Given the description of an element on the screen output the (x, y) to click on. 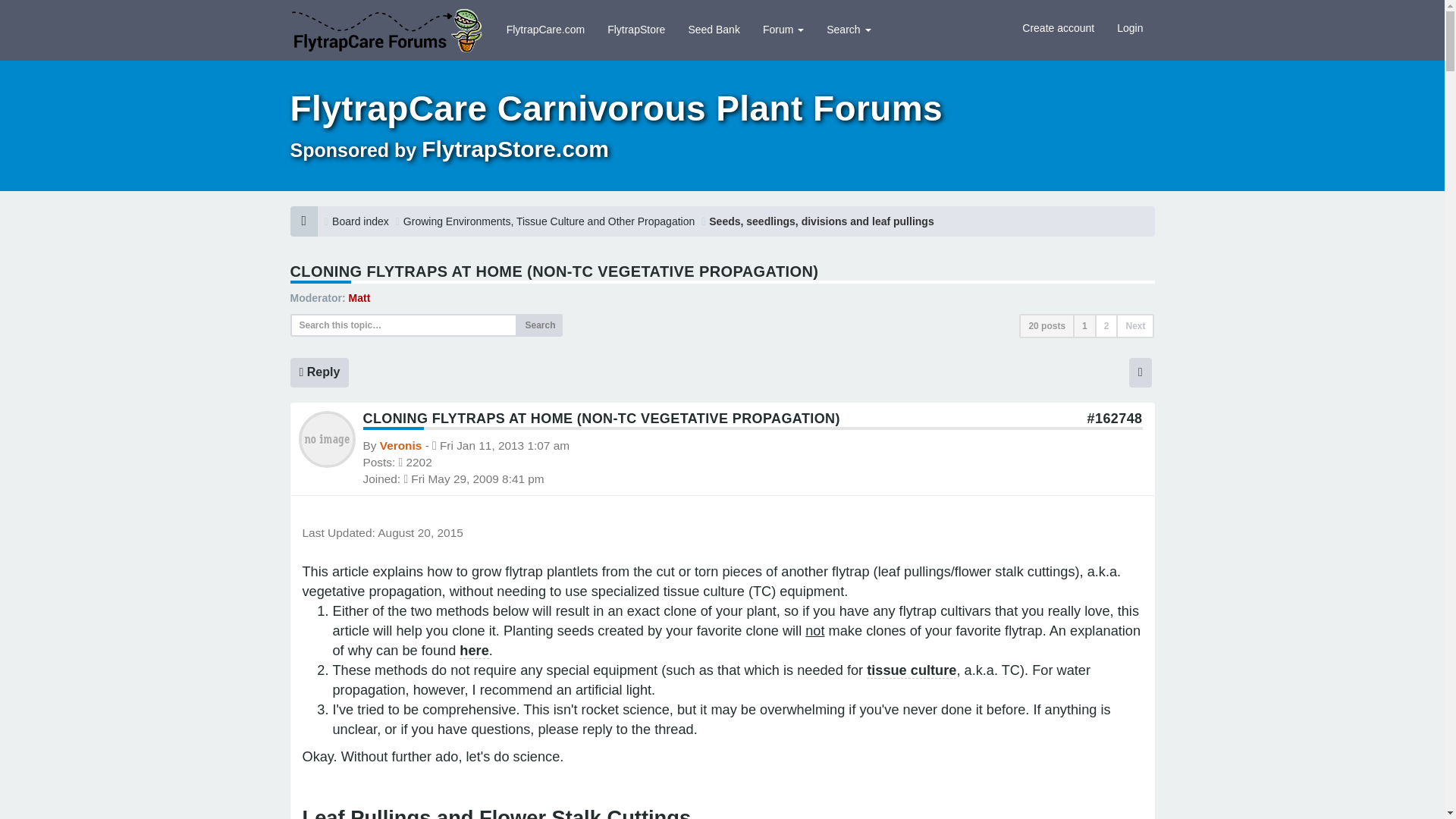
 Reply (319, 372)
tissue culture (911, 670)
2 (1106, 325)
Create account (1057, 27)
20 posts (1046, 325)
Forum  (783, 29)
Login (1129, 27)
FlytrapStore.com (515, 148)
Search (539, 324)
Seed Bank (714, 29)
